Given the description of an element on the screen output the (x, y) to click on. 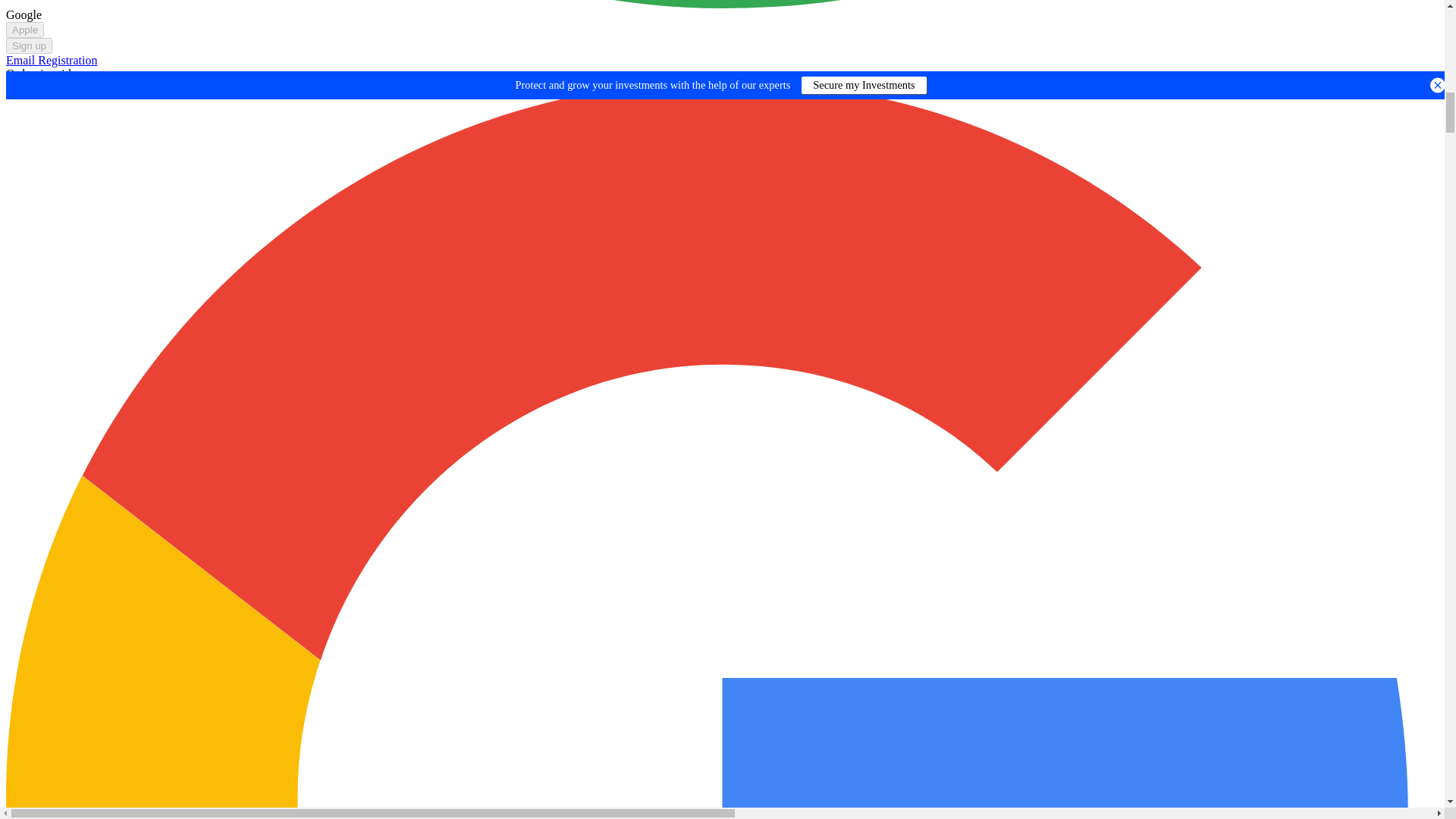
Sign up (28, 45)
Apple (24, 29)
Email Registration (51, 60)
